Given the description of an element on the screen output the (x, y) to click on. 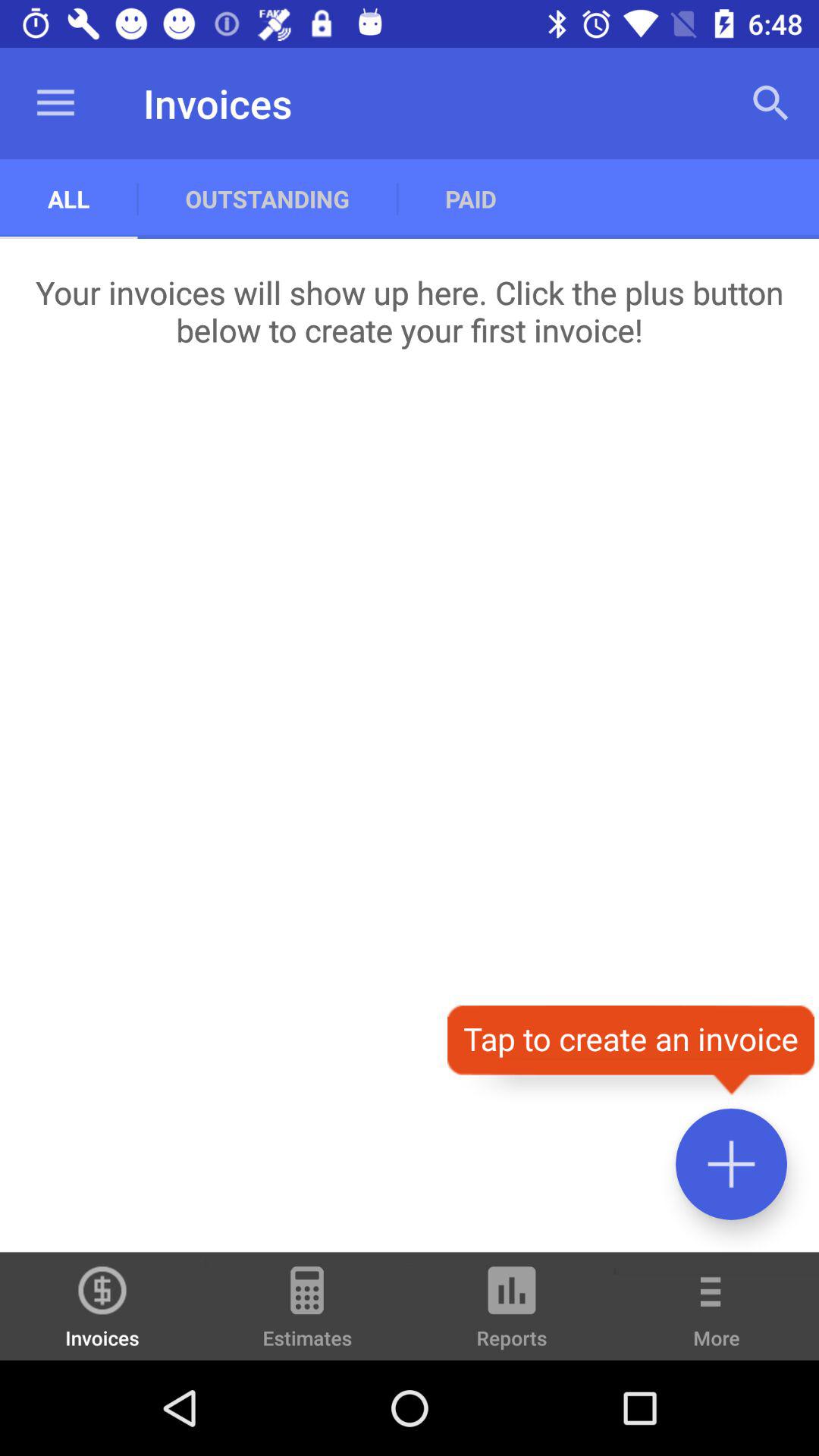
turn off the icon to the left of the reports icon (306, 1313)
